Given the description of an element on the screen output the (x, y) to click on. 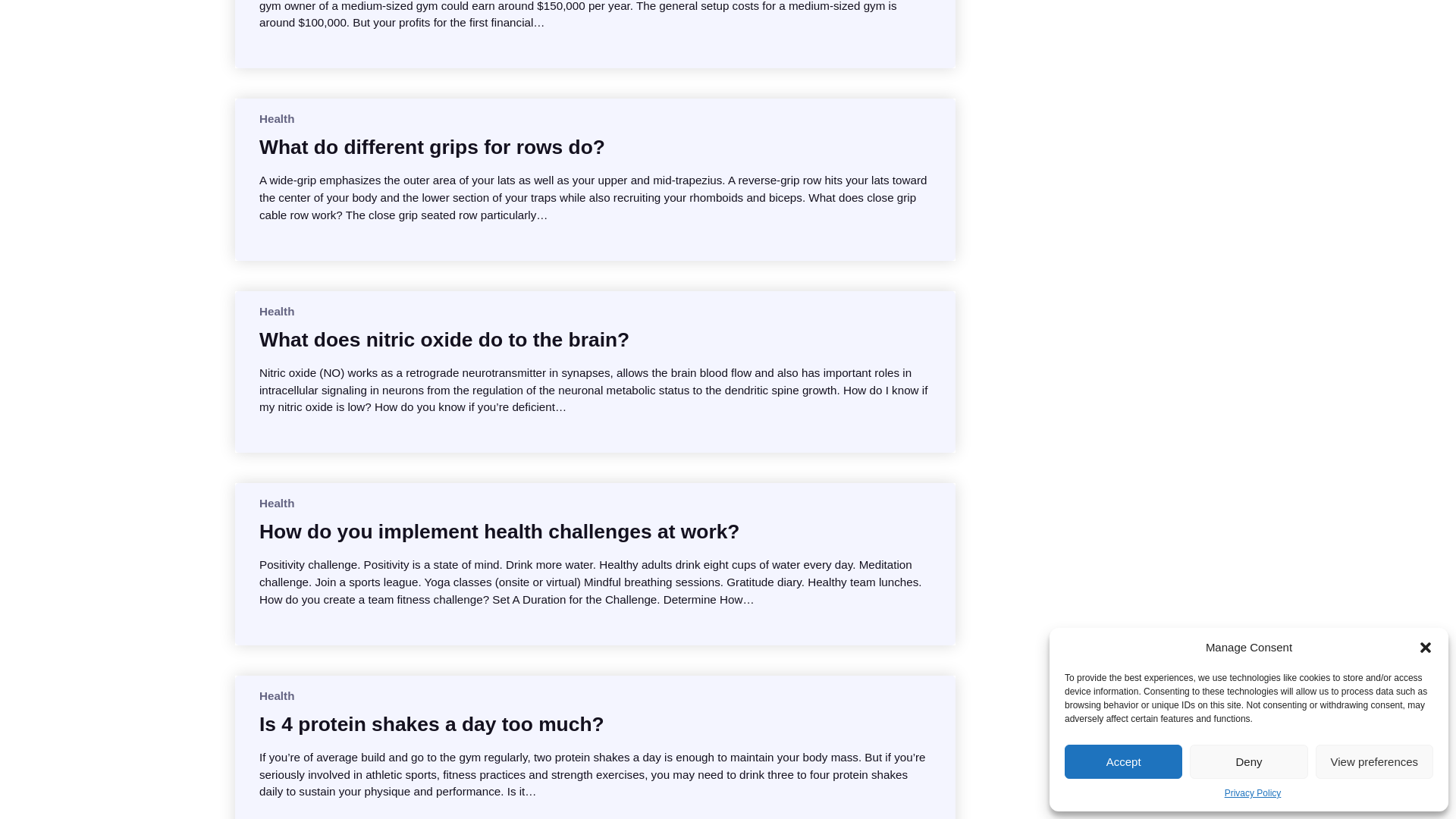
What does nitric oxide do to the brain? (443, 339)
Health (276, 118)
How do you implement health challenges at work? (499, 531)
Health (276, 310)
Health (276, 502)
What do different grips for rows do? (432, 146)
Is 4 protein shakes a day too much? (431, 724)
Health (276, 695)
